Given the description of an element on the screen output the (x, y) to click on. 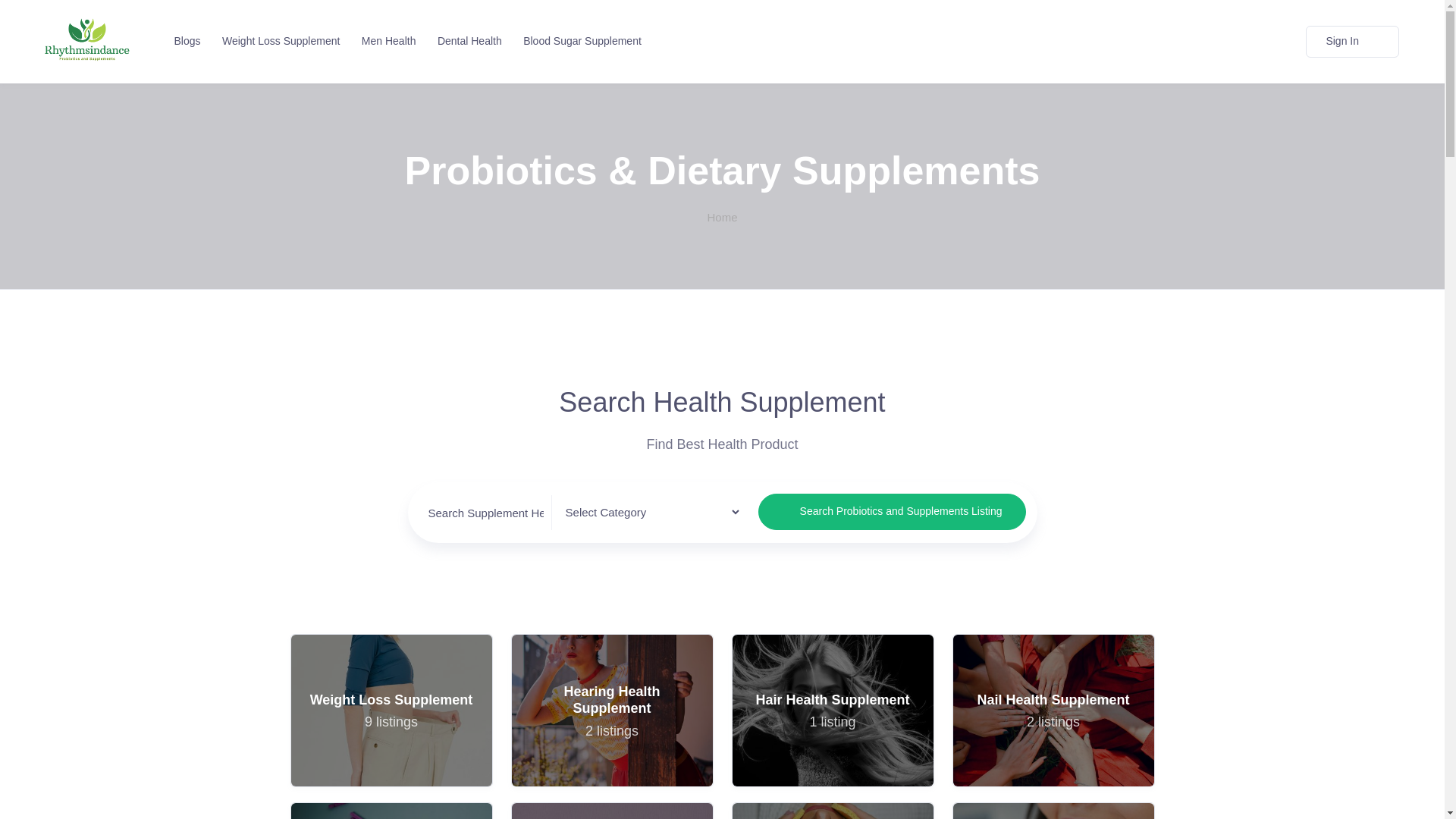
Nail Health Supplement (1052, 710)
Skin Care Supplement (832, 811)
Men Health (390, 710)
Blood Sugar Supplement (385, 41)
Search Probiotics and Supplements Listing (390, 811)
Hearing Health Supplement (612, 710)
